Given the description of an element on the screen output the (x, y) to click on. 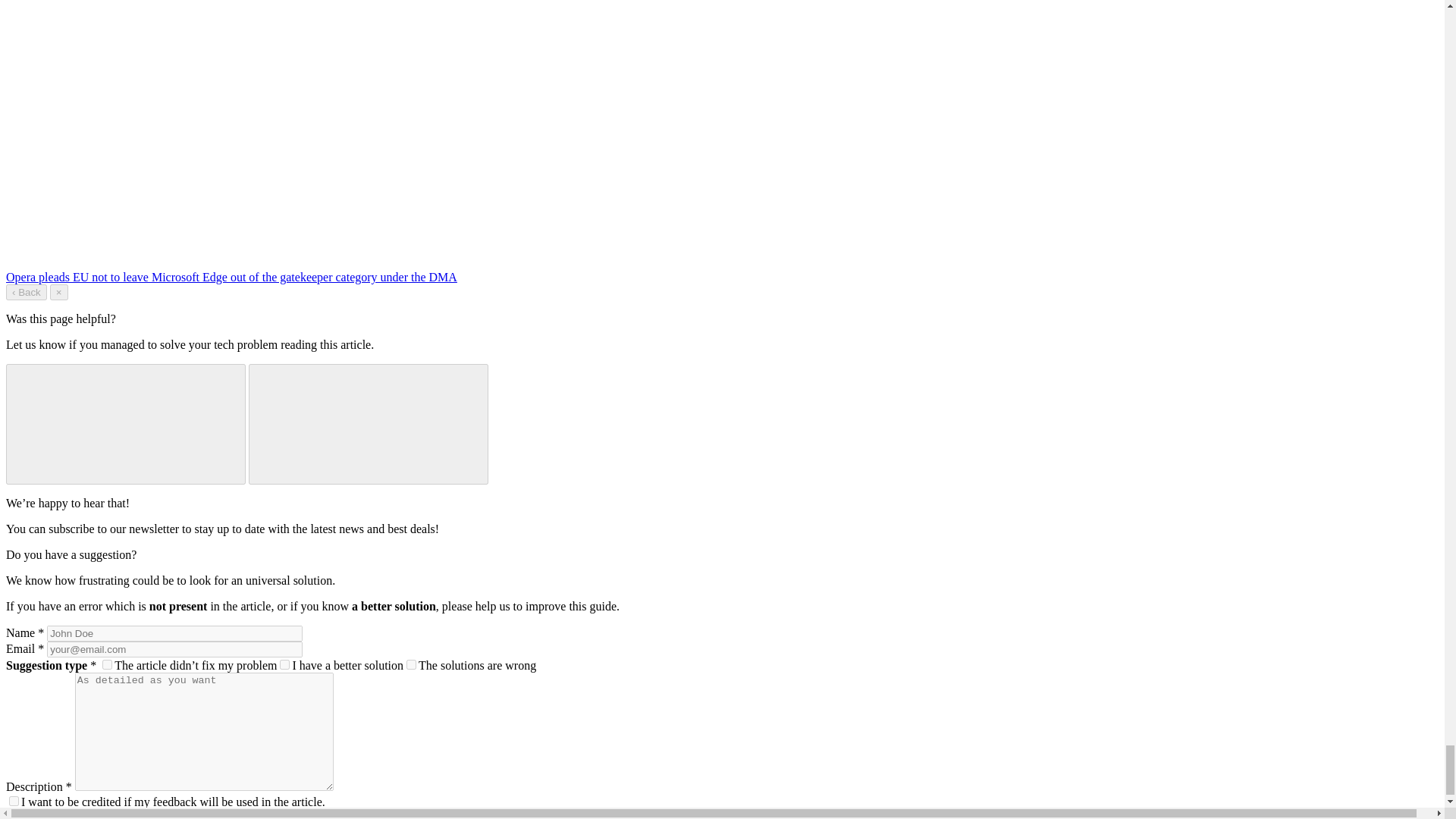
I have a better solution (284, 664)
1 (13, 800)
The solutions are wrong (411, 664)
